Given the description of an element on the screen output the (x, y) to click on. 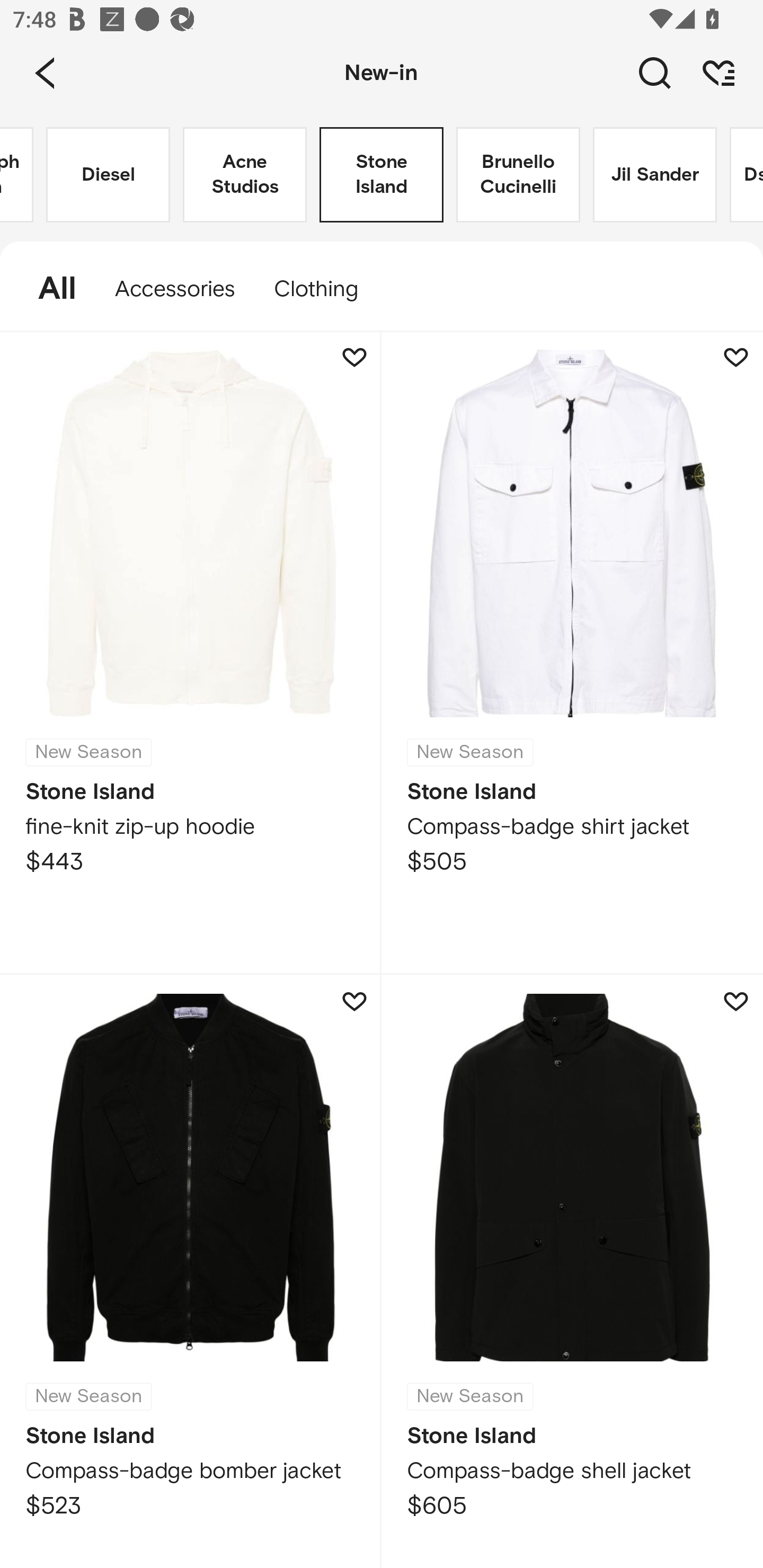
Diesel (107, 174)
Acne Studios (244, 174)
Stone Island (381, 174)
Brunello Cucinelli (517, 174)
Jil Sander (654, 174)
All (47, 288)
Accessories (174, 288)
Clothing (324, 288)
